Given the description of an element on the screen output the (x, y) to click on. 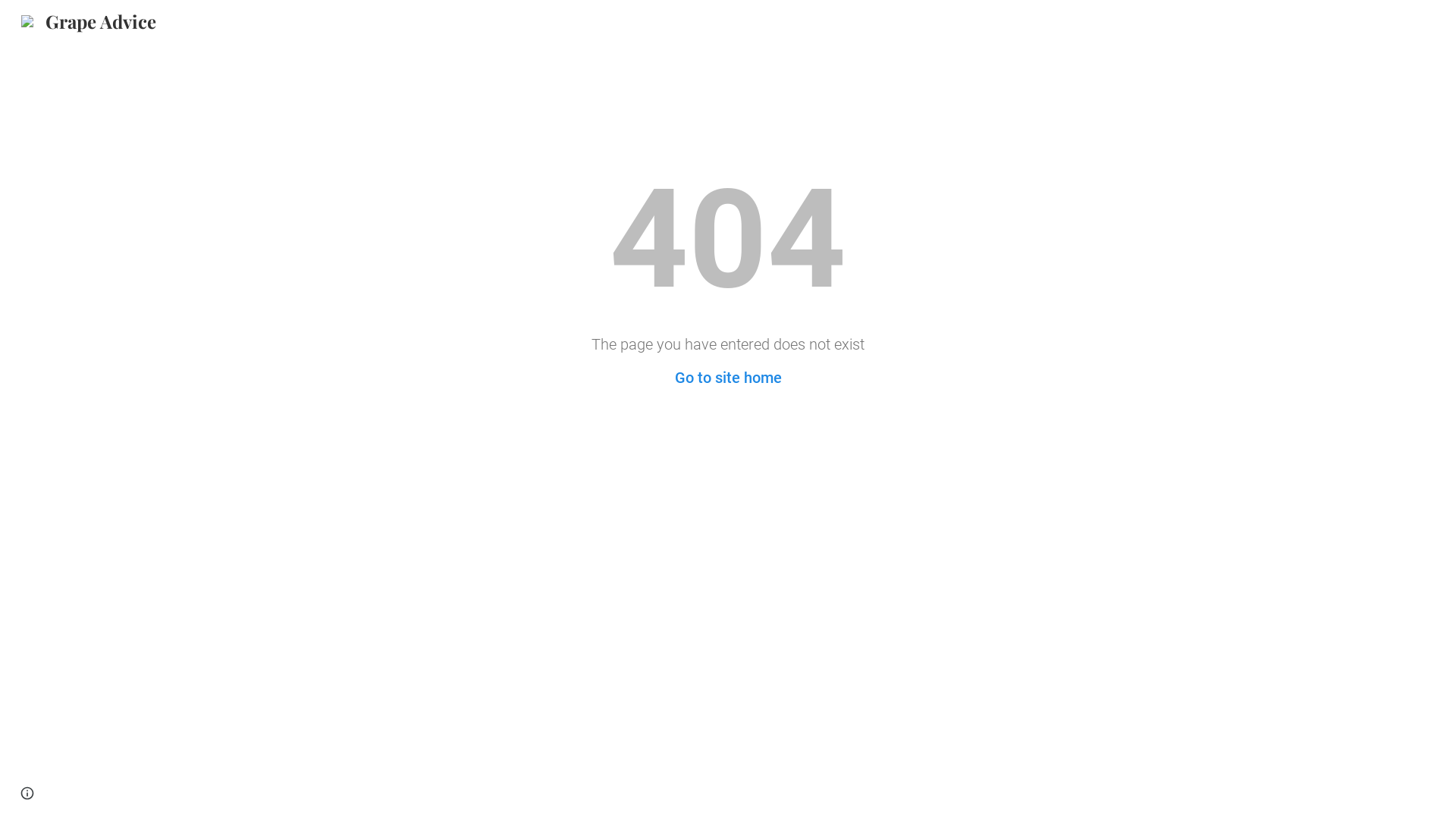
Go to site home Element type: text (727, 377)
Grape Advice Element type: text (88, 18)
